Given the description of an element on the screen output the (x, y) to click on. 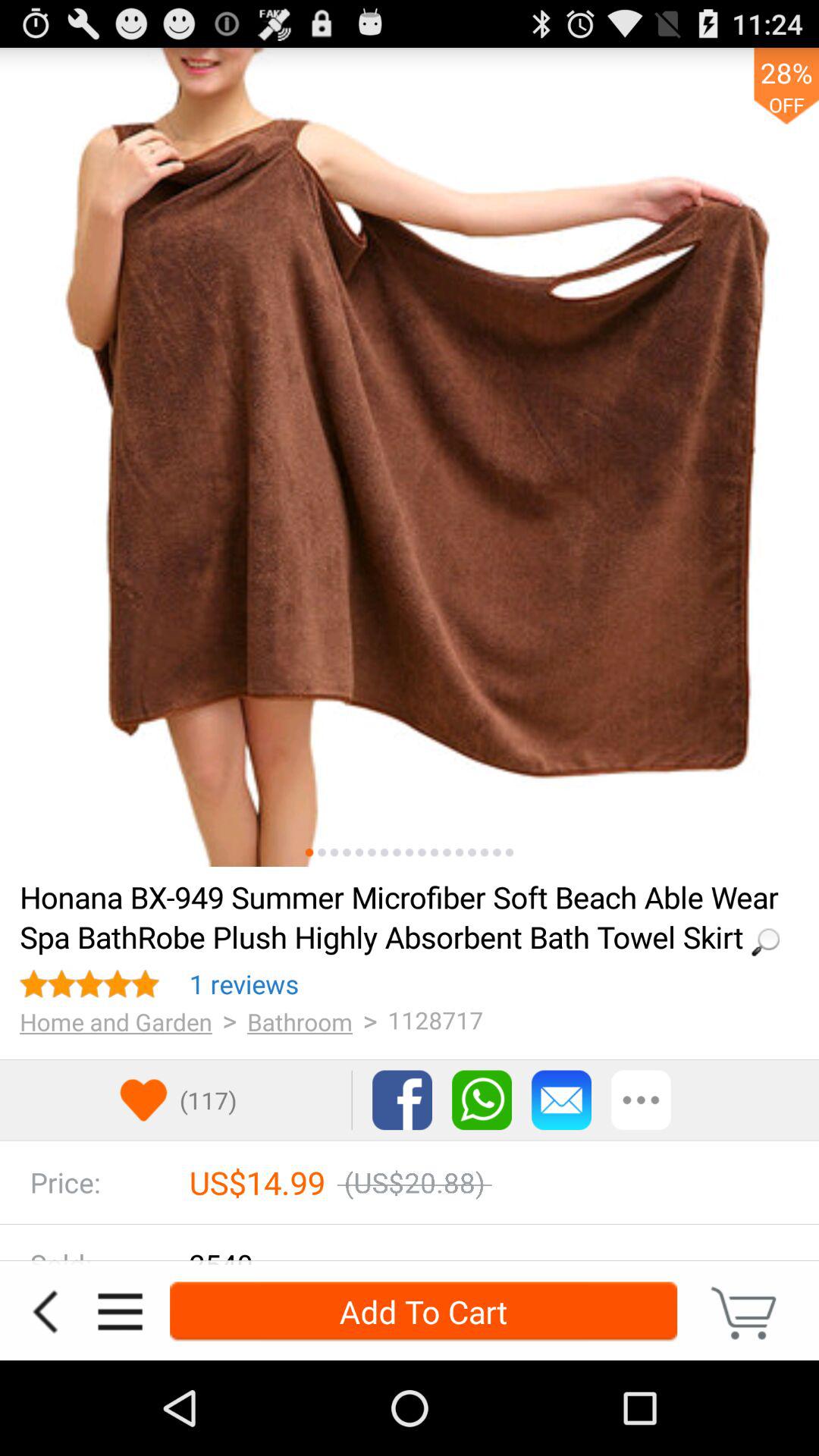
swipe for more visuals (371, 852)
